Given the description of an element on the screen output the (x, y) to click on. 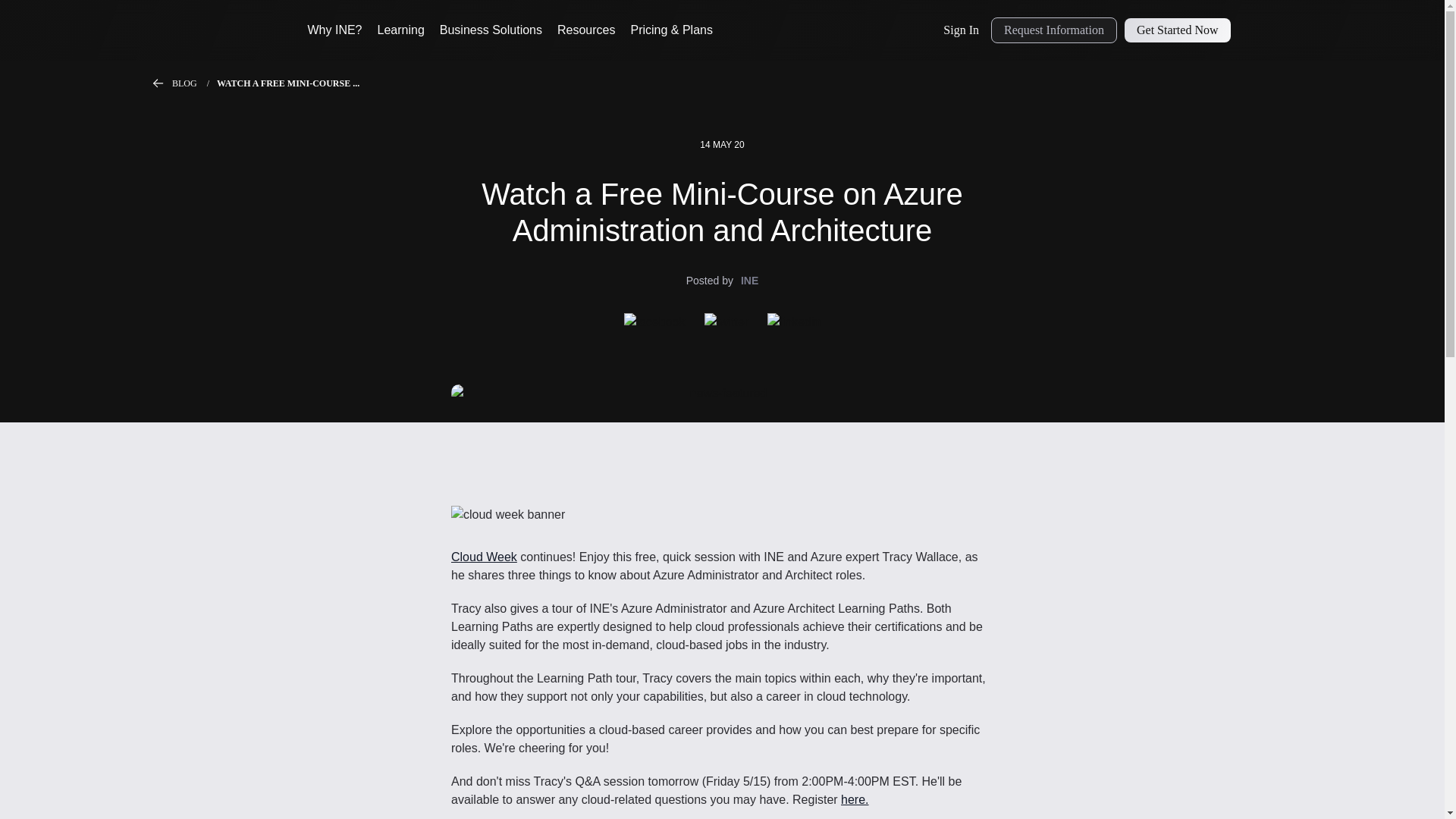
BLOG (193, 83)
Business Solutions (490, 30)
Why INE? (334, 30)
Resources (585, 30)
Sign In (961, 30)
here. (854, 799)
Get Started Now (1177, 30)
Cloud Week (483, 556)
Request Information (1053, 30)
